Given the description of an element on the screen output the (x, y) to click on. 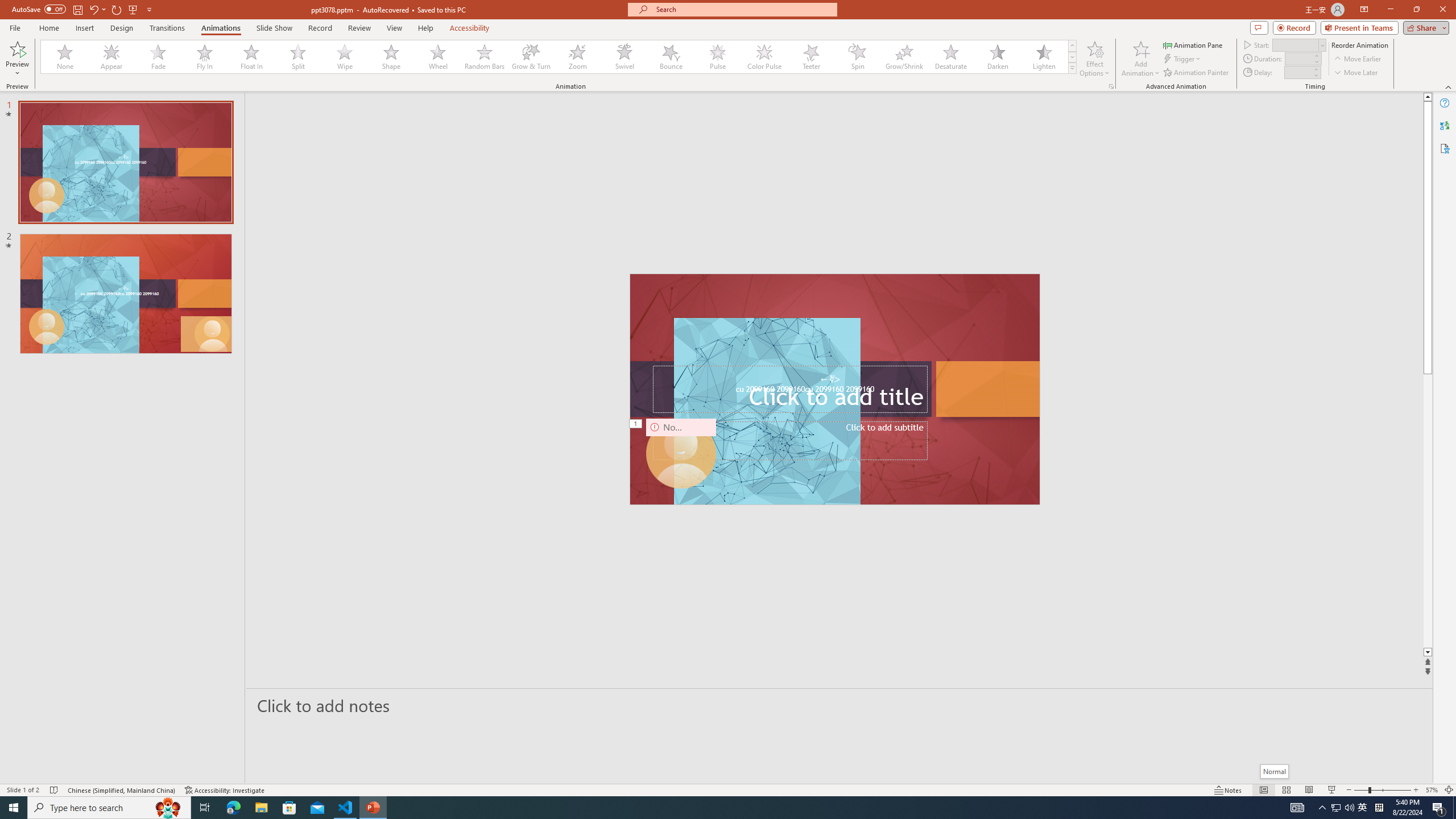
Trigger (1182, 58)
Animation Painter (1196, 72)
An abstract genetic concept (834, 389)
Effect Options (1094, 58)
Random Bars (484, 56)
